Given the description of an element on the screen output the (x, y) to click on. 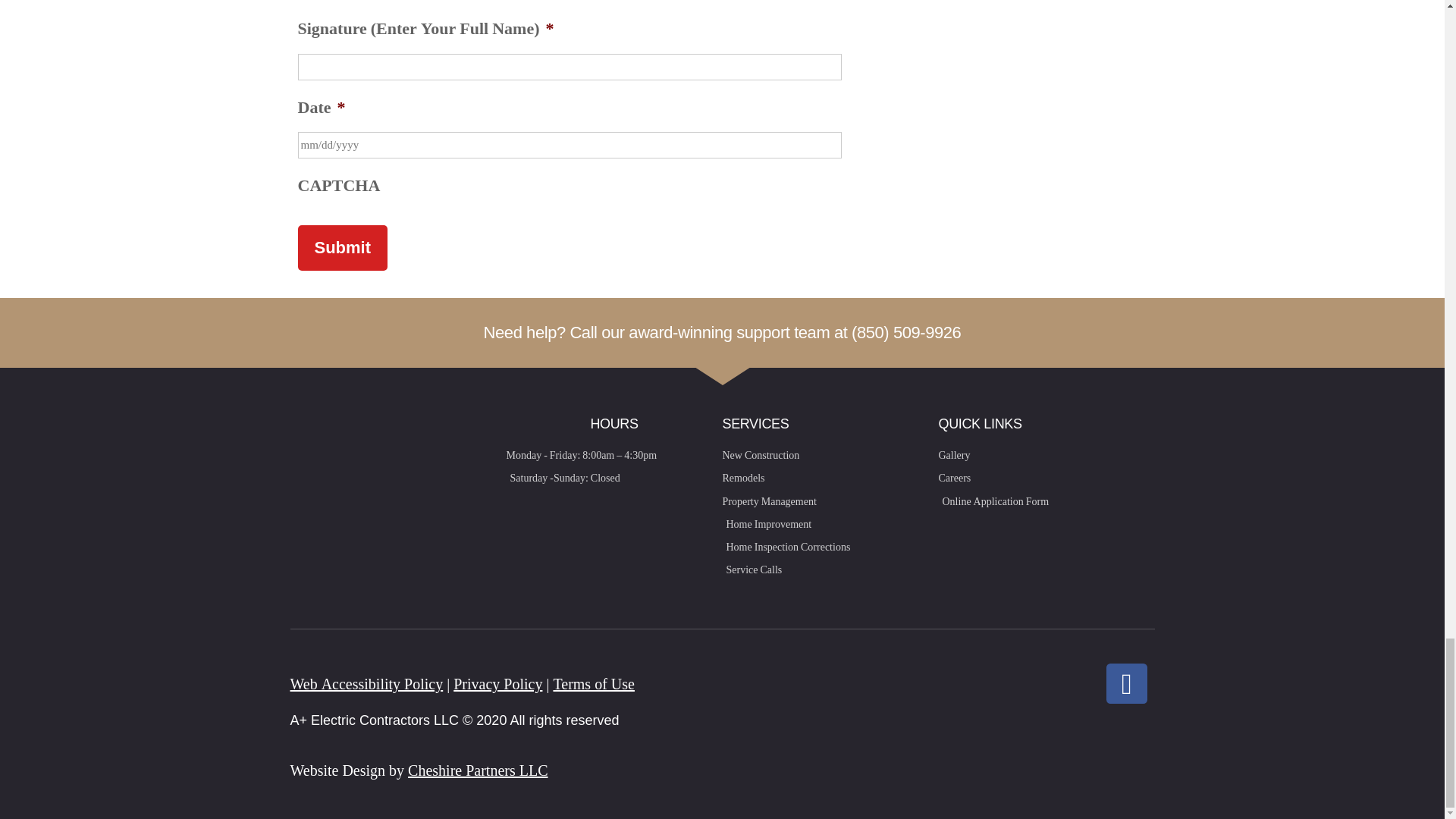
Submit (342, 248)
Cheshire Partners LLC (477, 770)
Terms of Use (593, 683)
Privacy Policy (496, 683)
Web Accessibility Policy (365, 683)
